Given the description of an element on the screen output the (x, y) to click on. 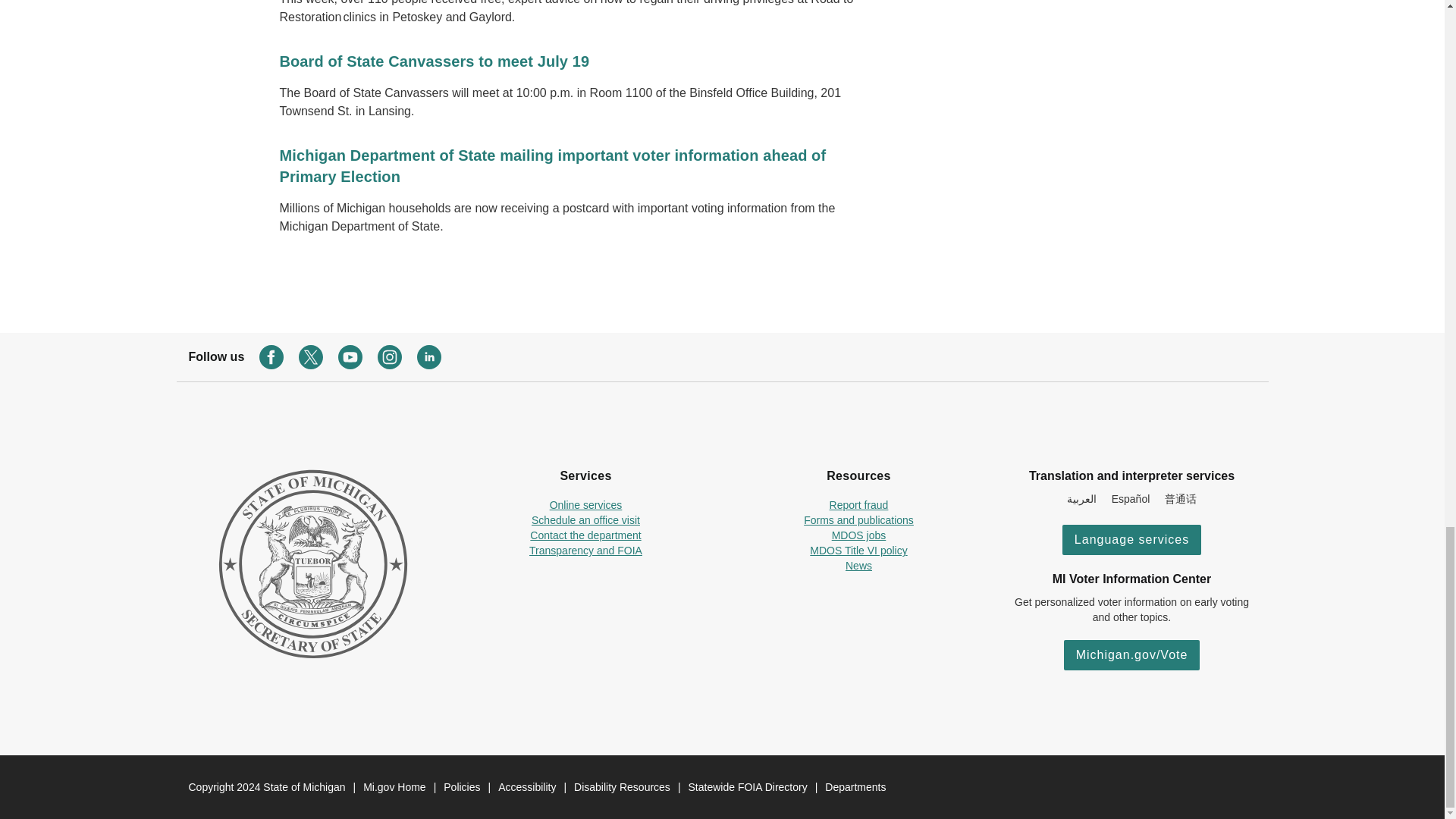
Opens in new tab (584, 535)
Opens in new tab (586, 504)
Opens in new tab (858, 535)
